Given the description of an element on the screen output the (x, y) to click on. 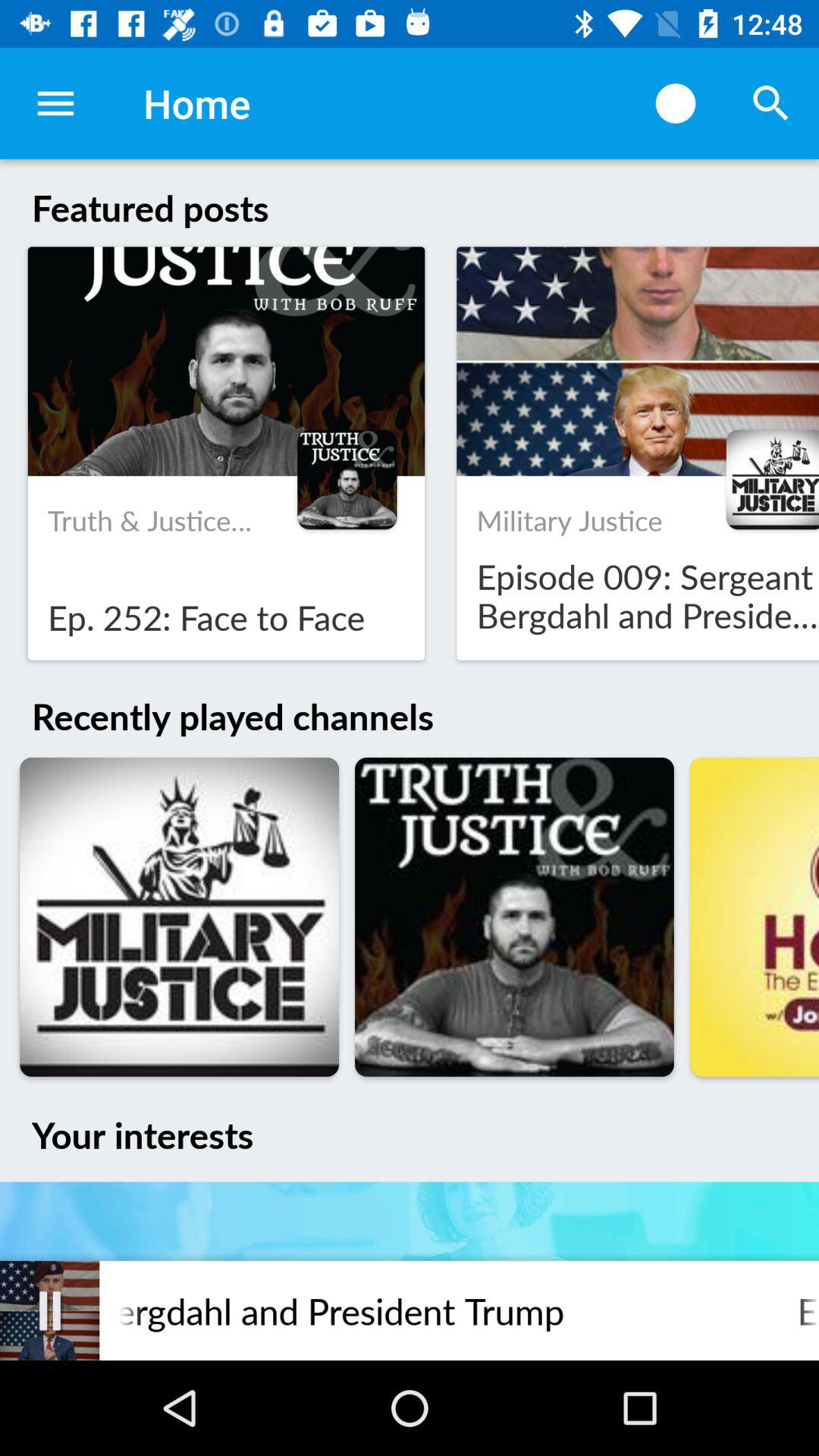
open icon to the left of the home item (55, 103)
